Given the description of an element on the screen output the (x, y) to click on. 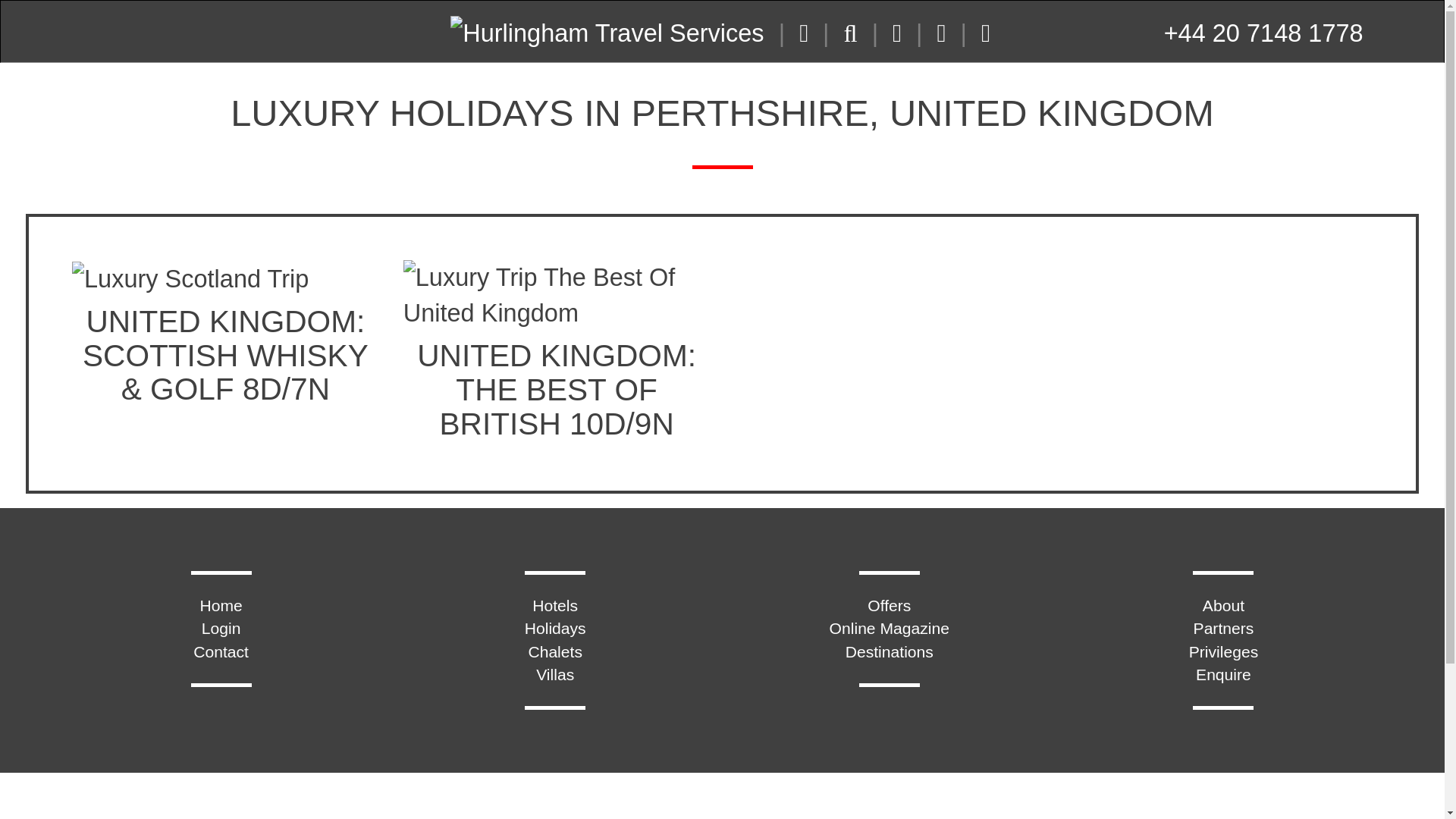
Home (220, 605)
Hurlingham Travel (605, 28)
Login (221, 628)
Call Now (1262, 32)
